Given the description of an element on the screen output the (x, y) to click on. 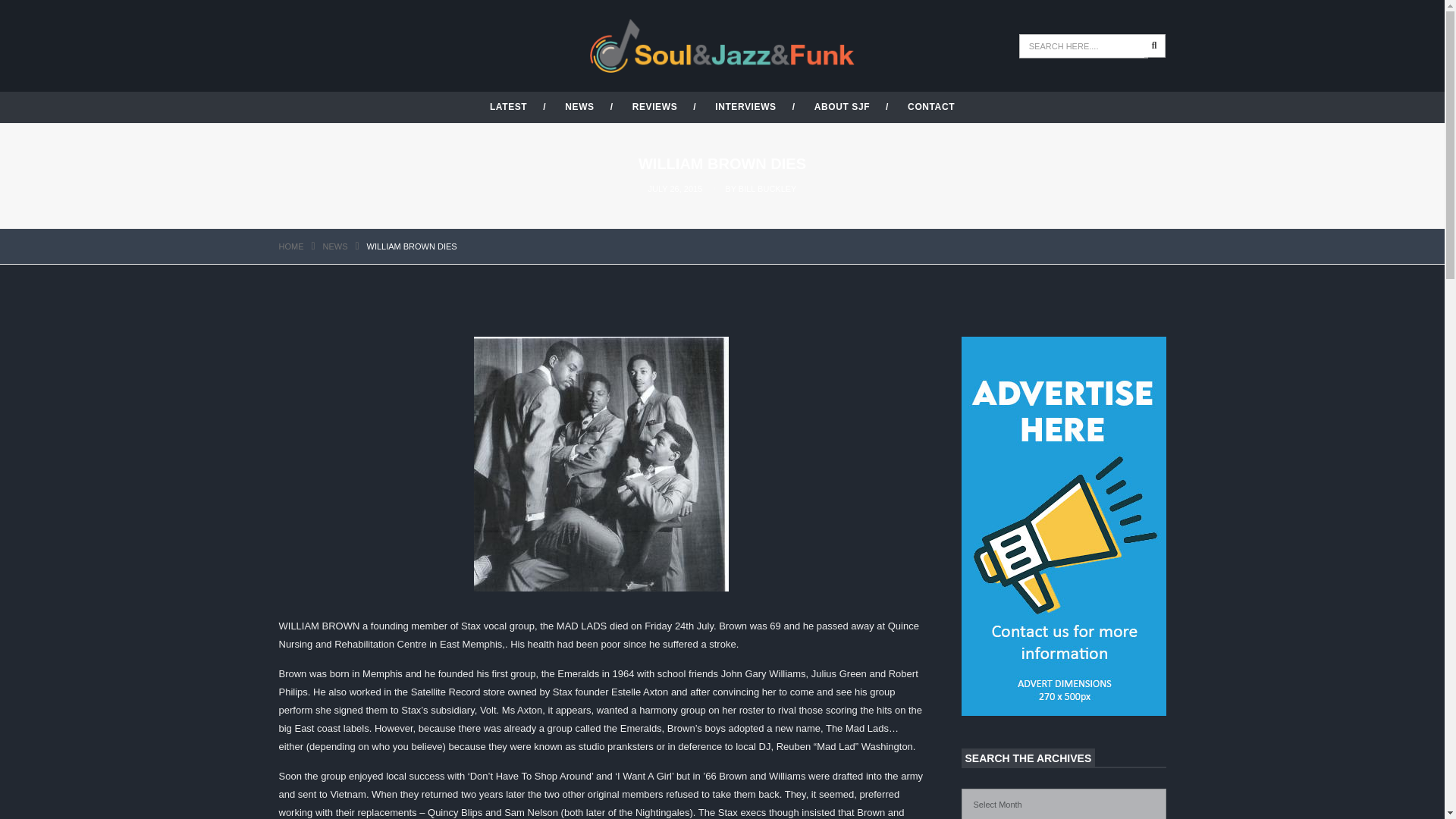
BILL BUCKLEY (767, 188)
INTERVIEWS (744, 106)
News (335, 245)
CONTACT (931, 106)
HOME (291, 245)
Browse to: Home (291, 245)
LATEST (508, 106)
REVIEWS (654, 106)
ABOUT SJF (841, 106)
NEWS (579, 106)
NEWS (335, 245)
